Given the description of an element on the screen output the (x, y) to click on. 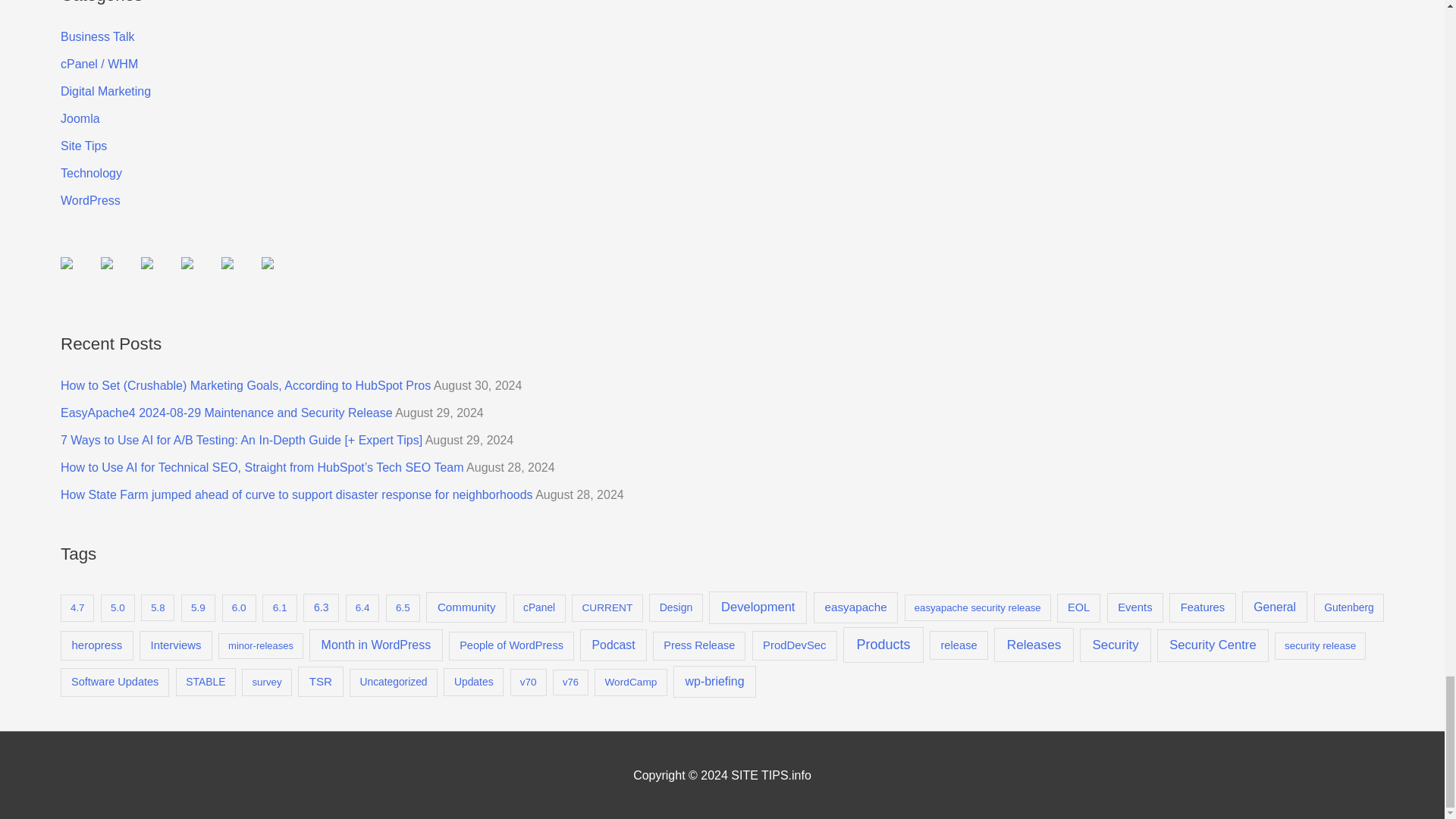
Share on Linkedin (239, 275)
Share on Reddit (146, 263)
WordPress (90, 200)
Business Talk (98, 36)
Pin it with Pinterest (198, 275)
Digital Marketing (106, 91)
Pin it with Pinterest (186, 263)
Share on Facebook (66, 263)
Share on Reddit (159, 275)
Share on Facebook (79, 275)
